Given the description of an element on the screen output the (x, y) to click on. 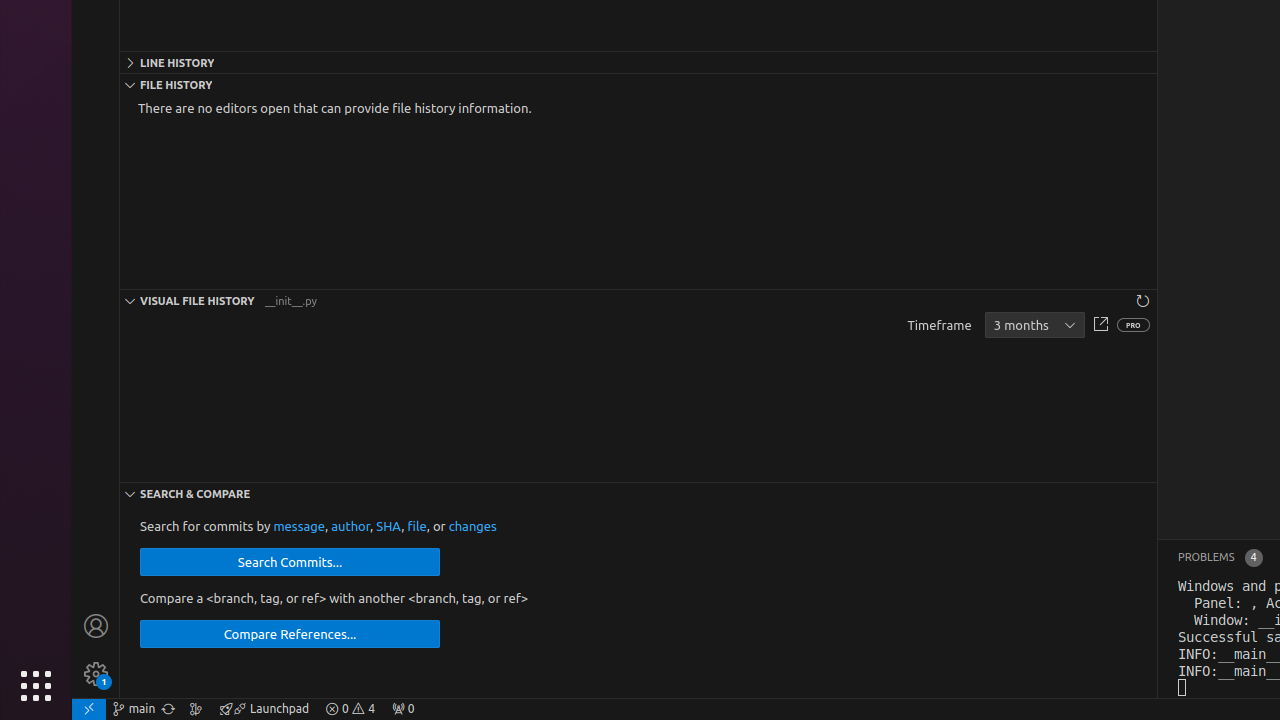
Line History Section Element type: push-button (638, 62)
Search Commits... Element type: push-button (290, 562)
Refresh Element type: push-button (1143, 300)
Open in Editor Element type: link (1100, 325)
Problems (Ctrl+Shift+M) - Total 4 Problems Element type: page-tab (1219, 557)
